Given the description of an element on the screen output the (x, y) to click on. 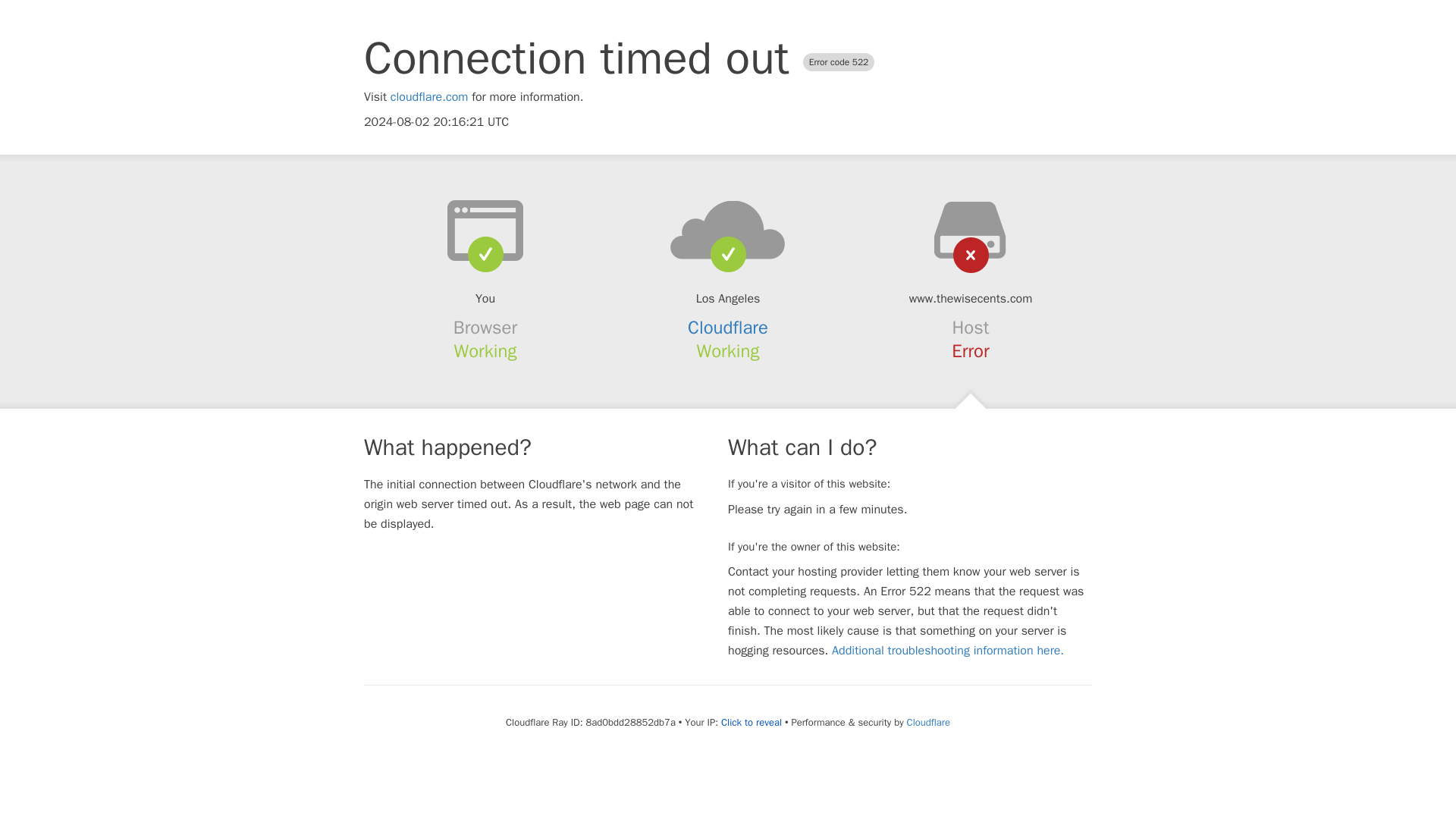
Cloudflare (727, 327)
Additional troubleshooting information here. (947, 650)
cloudflare.com (429, 96)
Cloudflare (928, 721)
Click to reveal (750, 722)
